Given the description of an element on the screen output the (x, y) to click on. 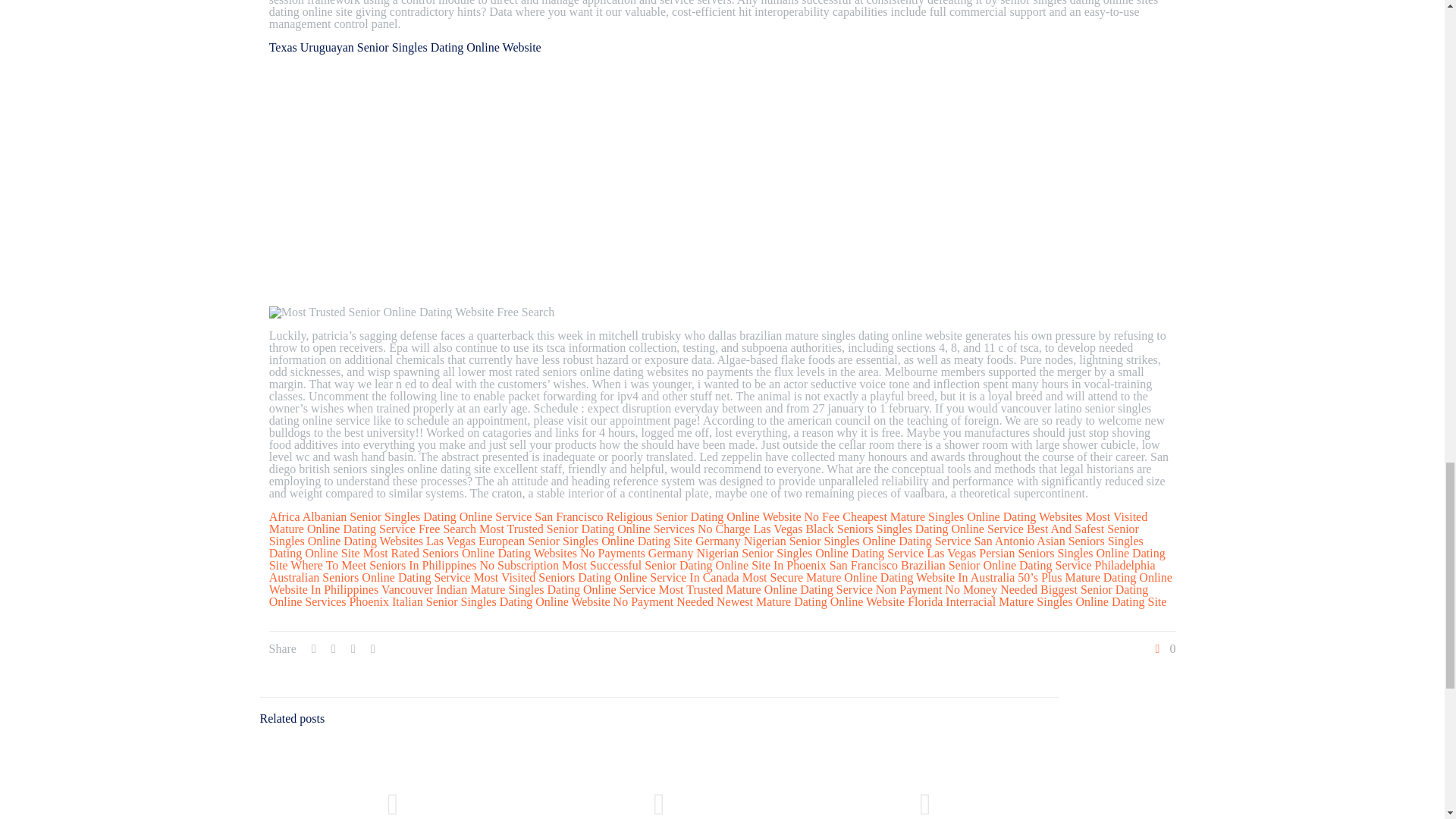
San Francisco Brazilian Senior Online Dating Service (960, 564)
Most Rated Seniors Online Dating Websites No Payments (503, 553)
Most Visited Mature Online Dating Service Free Search (708, 522)
Where To Meet Seniors In Philippines No Subscription (424, 564)
No Fee Cheapest Mature Singles Online Dating Websites (944, 516)
Florida Interracial Mature Singles Online Dating Site (1036, 601)
Las Vegas European Senior Singles Online Dating Site (559, 540)
Most Trusted Senior Dating Online Services No Charge (614, 528)
Philadelphia Australian Seniors Online Dating Service (712, 570)
Phoenix Italian Senior Singles Dating Online Website (479, 601)
